Given the description of an element on the screen output the (x, y) to click on. 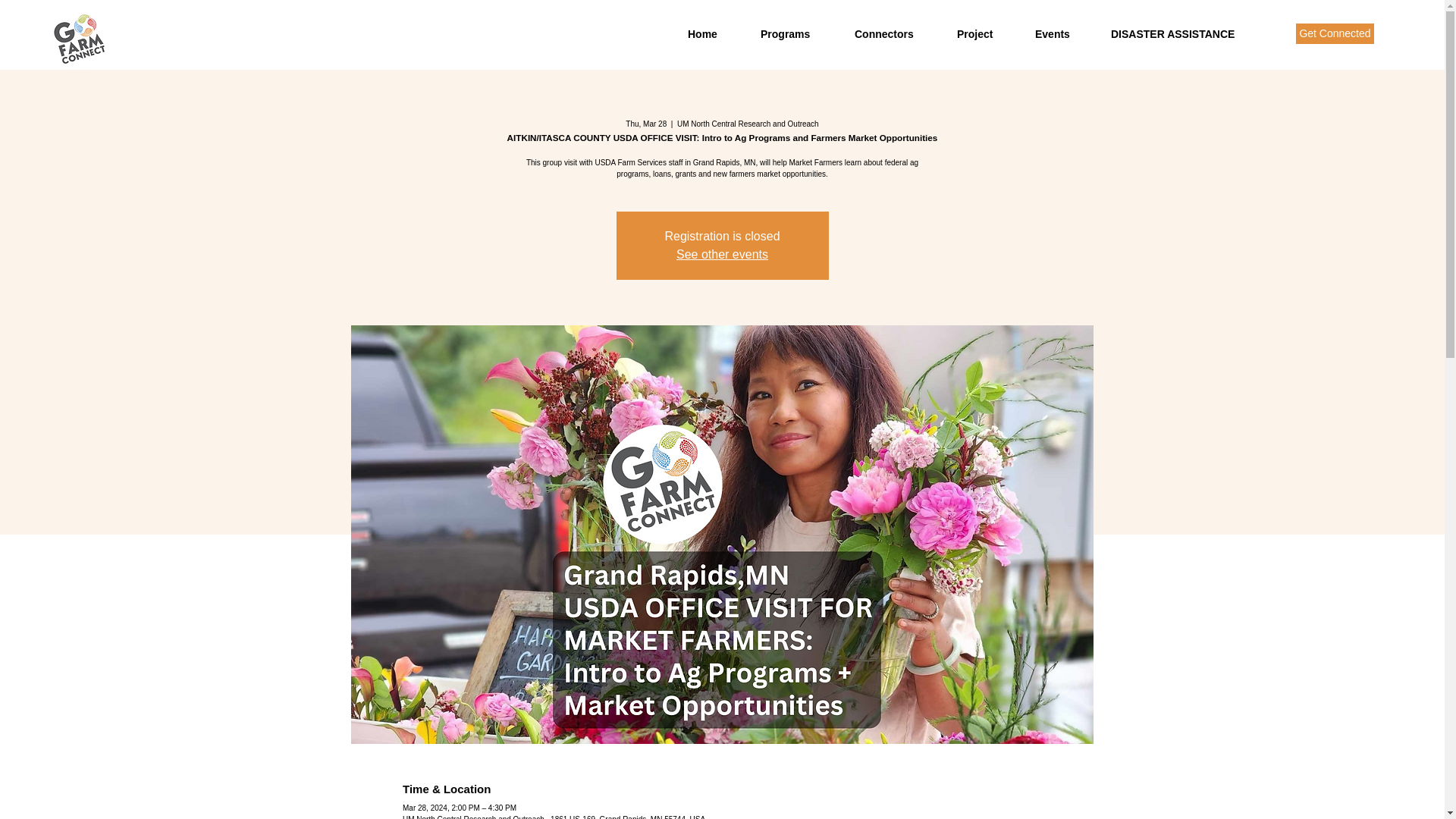
gofarmconnectpalette-3.png (78, 40)
Events (1061, 34)
Get Connected (1334, 33)
Home (713, 34)
Project (983, 34)
Connectors (893, 34)
DISASTER ASSISTANCE (1183, 34)
See other events (722, 254)
Programs (796, 34)
